Given the description of an element on the screen output the (x, y) to click on. 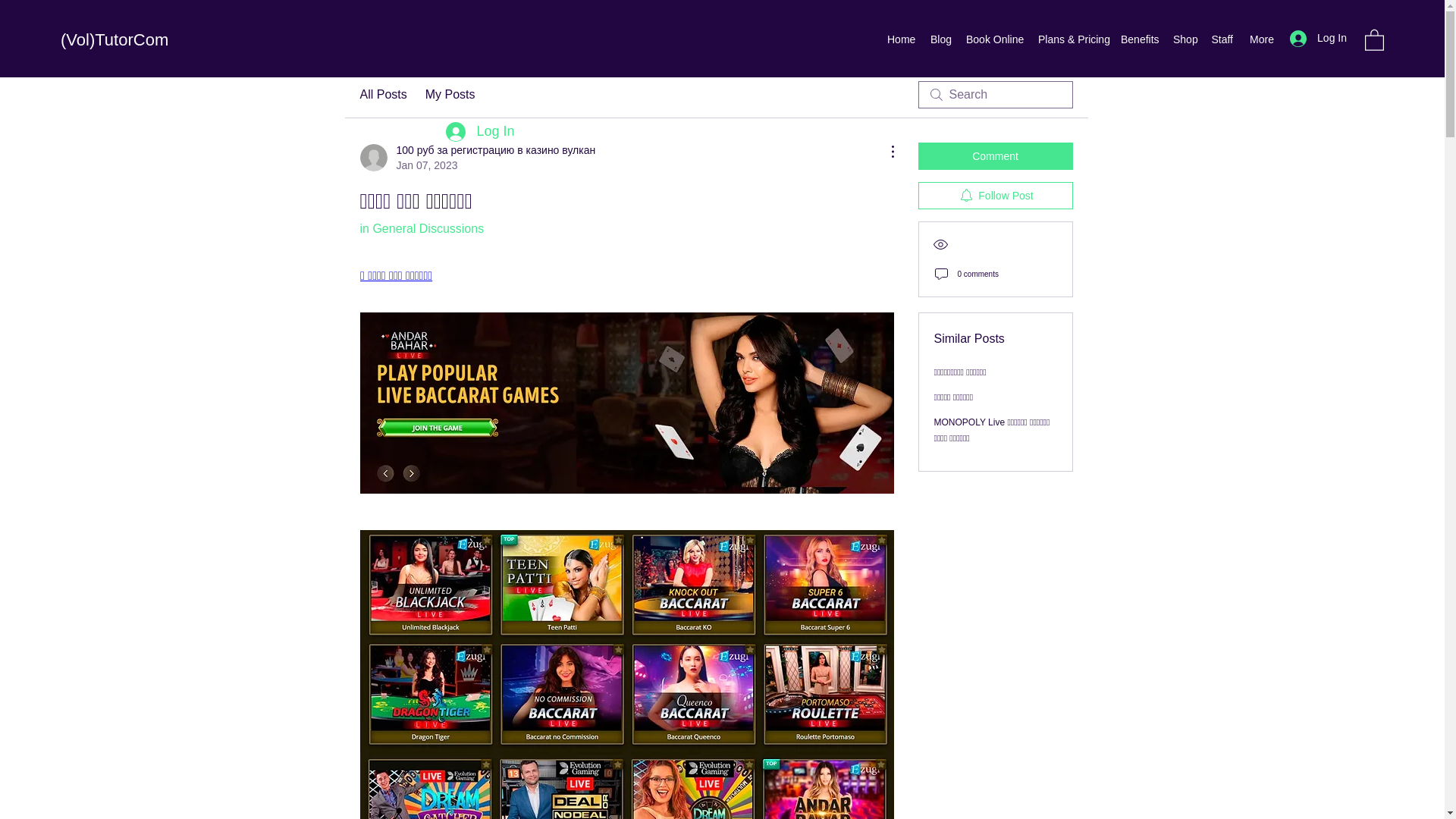
Log In (479, 131)
Log In (1317, 38)
Book Online (994, 38)
Follow Post (994, 195)
Home (901, 38)
Benefits (1139, 38)
My Posts (450, 94)
Shop (1185, 38)
in General Discussions (421, 228)
Staff (1222, 38)
Blog (940, 38)
Comment (994, 155)
All Posts (382, 94)
